Given the description of an element on the screen output the (x, y) to click on. 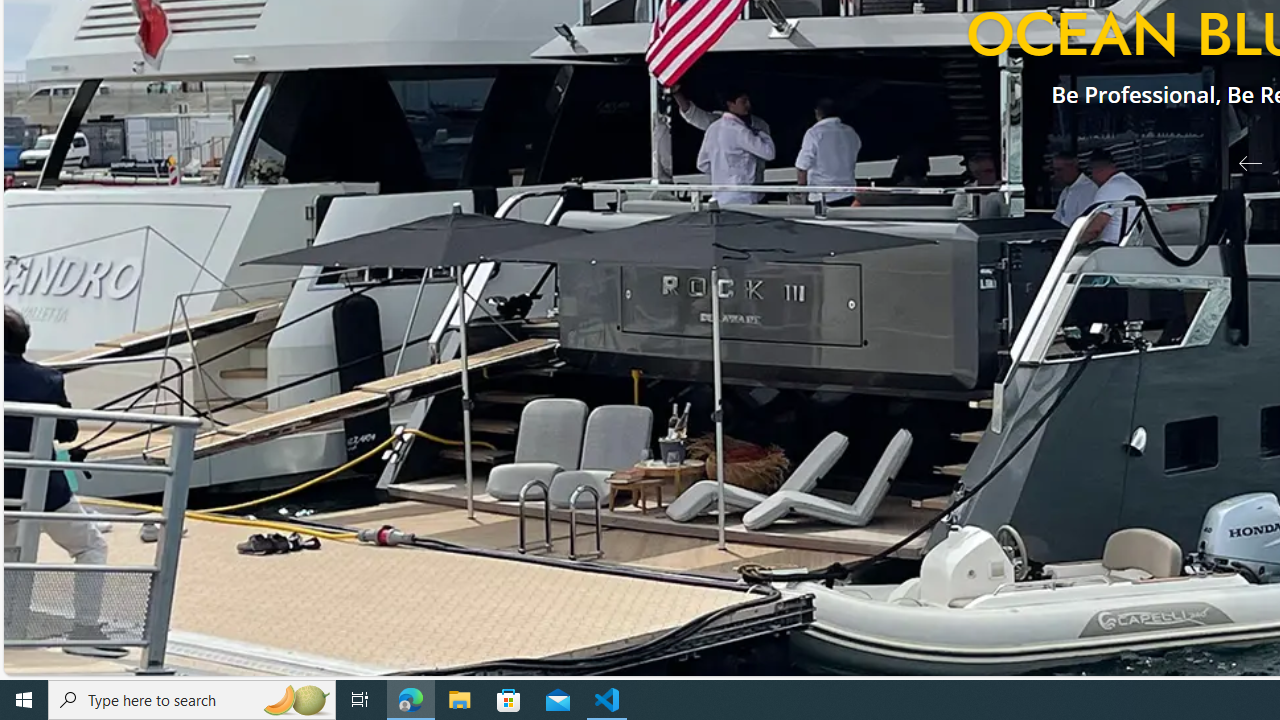
Previous Slide (1242, 161)
